Given the description of an element on the screen output the (x, y) to click on. 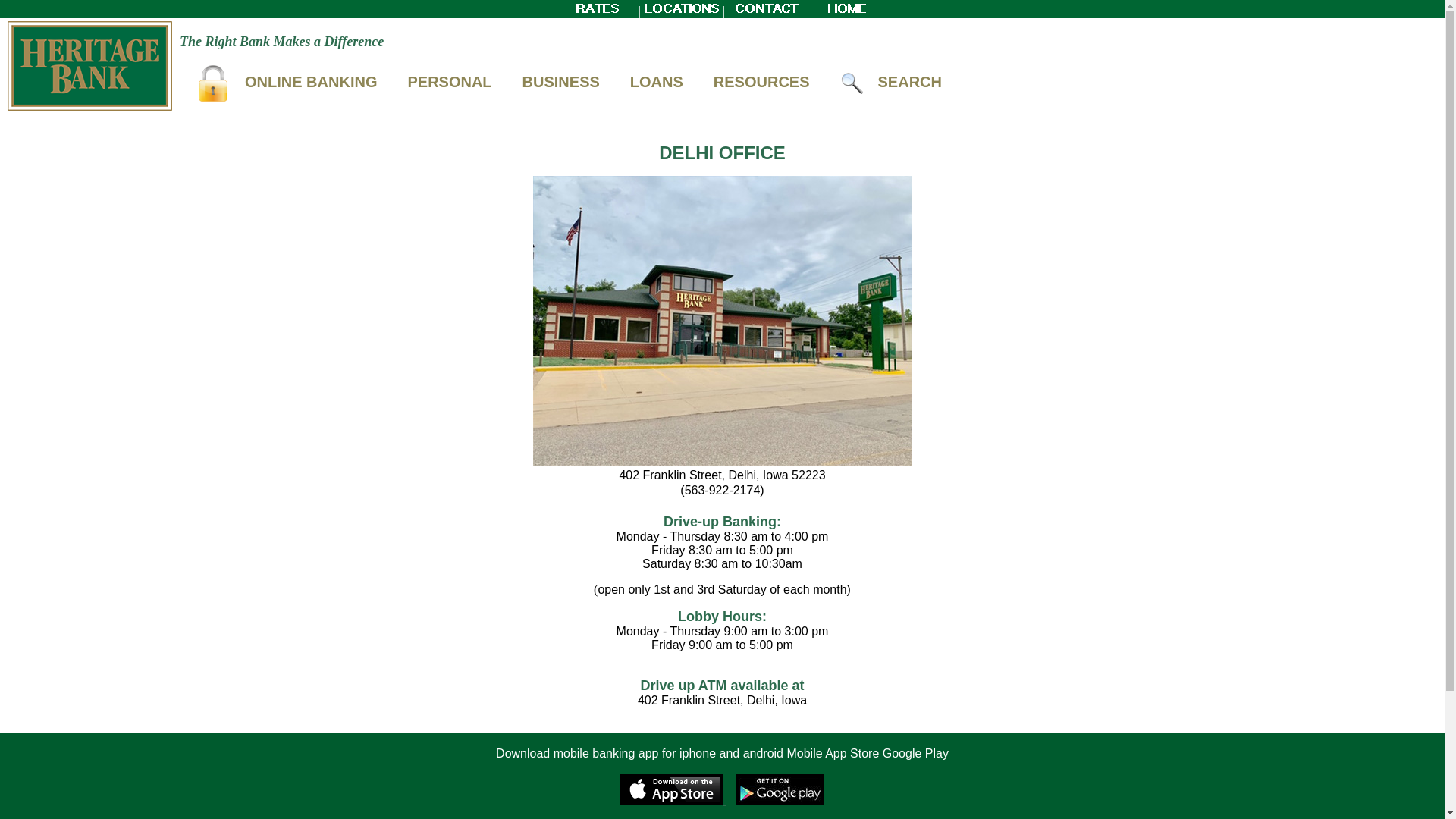
BUSINESS Element type: text (561, 81)
PERSONAL Element type: text (449, 81)
ONLINE BANKING Element type: text (285, 81)
SEARCH Element type: text (891, 81)
RESOURCES Element type: text (761, 81)
LOANS Element type: text (656, 81)
